Given the description of an element on the screen output the (x, y) to click on. 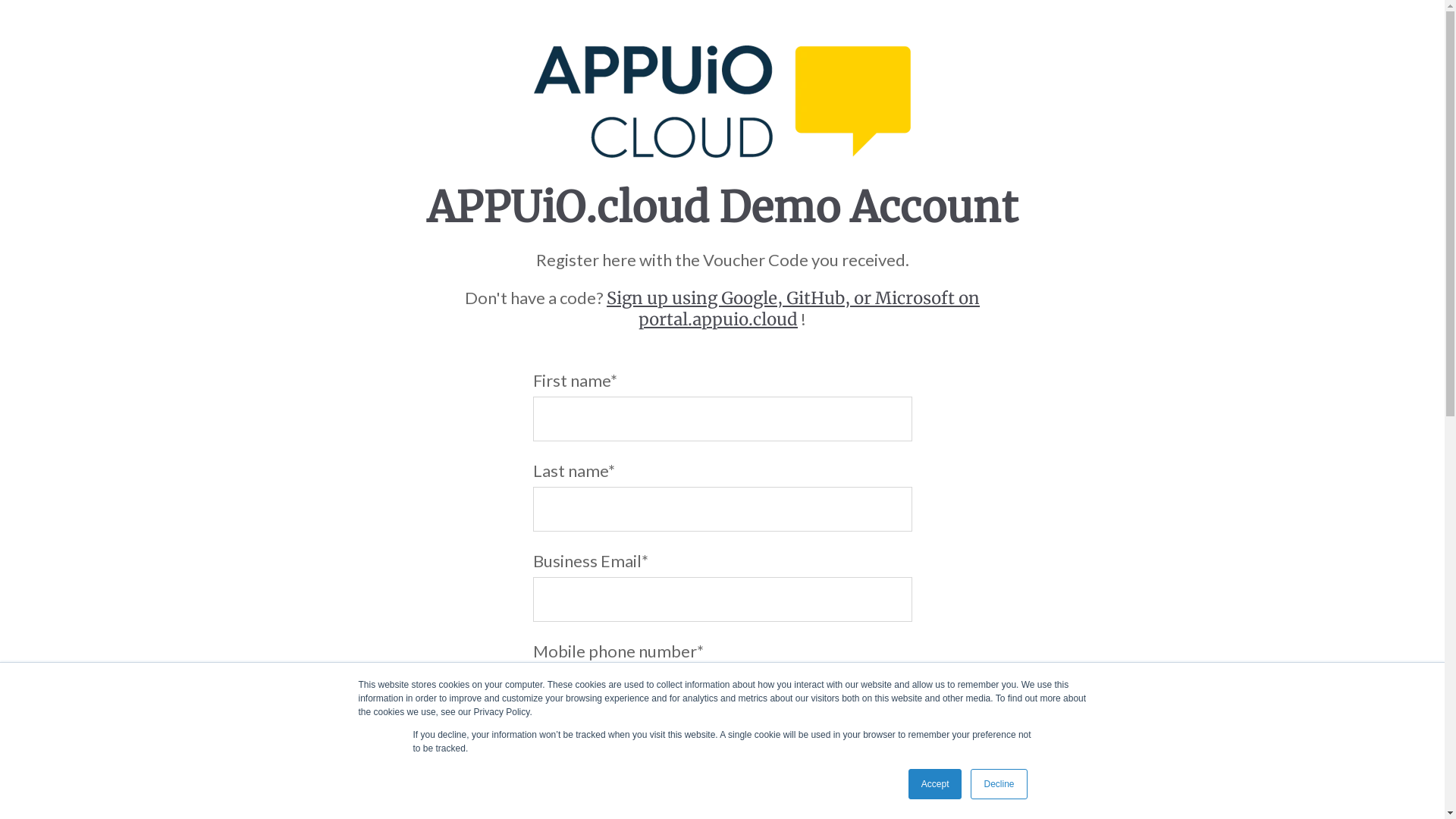
Decline Element type: text (998, 783)
Accept Element type: text (935, 783)
APPUiO.cloud logo Element type: hover (721, 101)
